Given the description of an element on the screen output the (x, y) to click on. 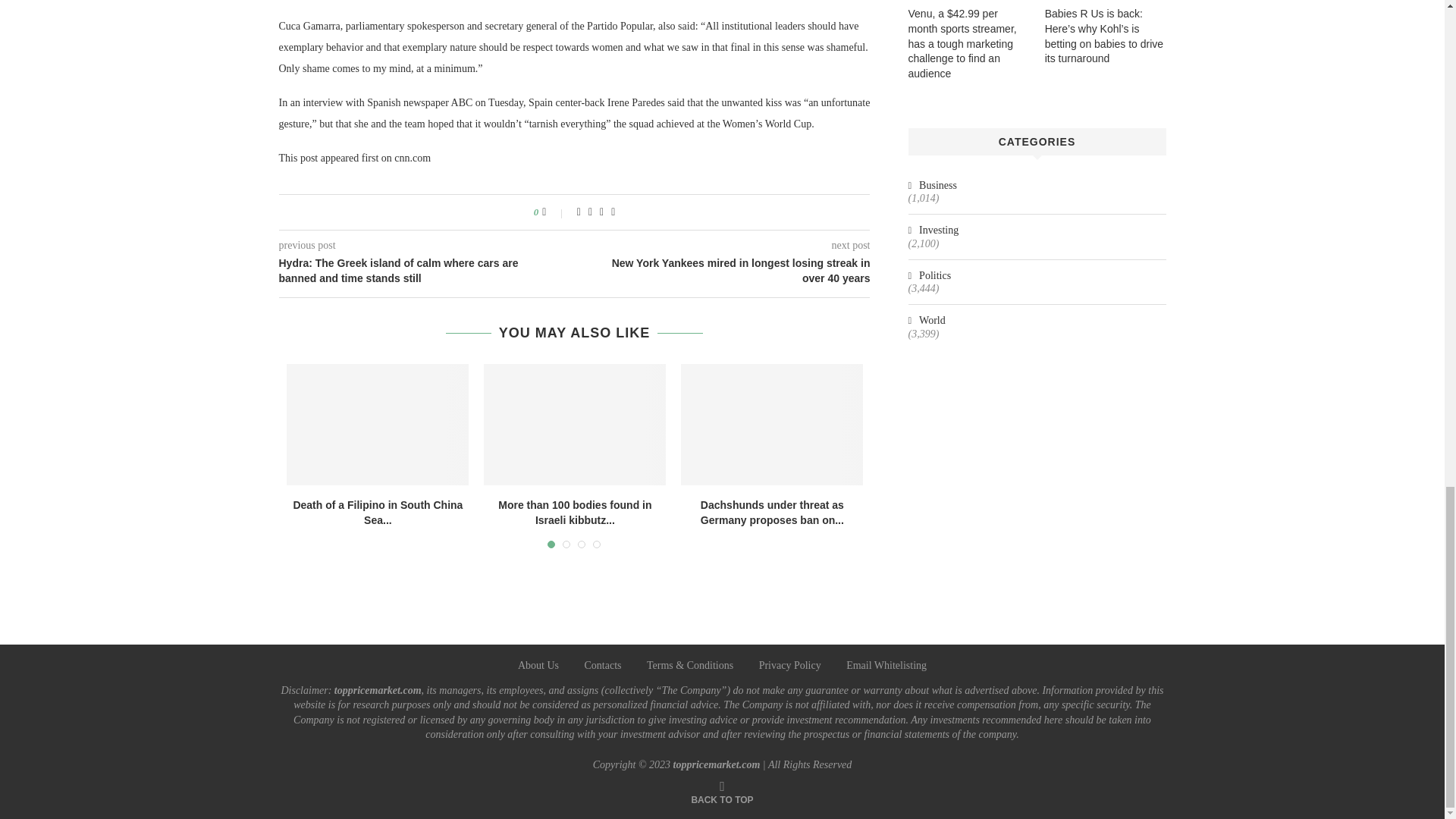
Like (553, 212)
Dachshunds under threat as Germany proposes ban on breeding (772, 424)
Dachshunds under threat as Germany proposes ban on... (772, 512)
Death of a Filipino in South China Sea... (377, 512)
More than 100 bodies found in Israeli kibbutz... (573, 512)
